Given the description of an element on the screen output the (x, y) to click on. 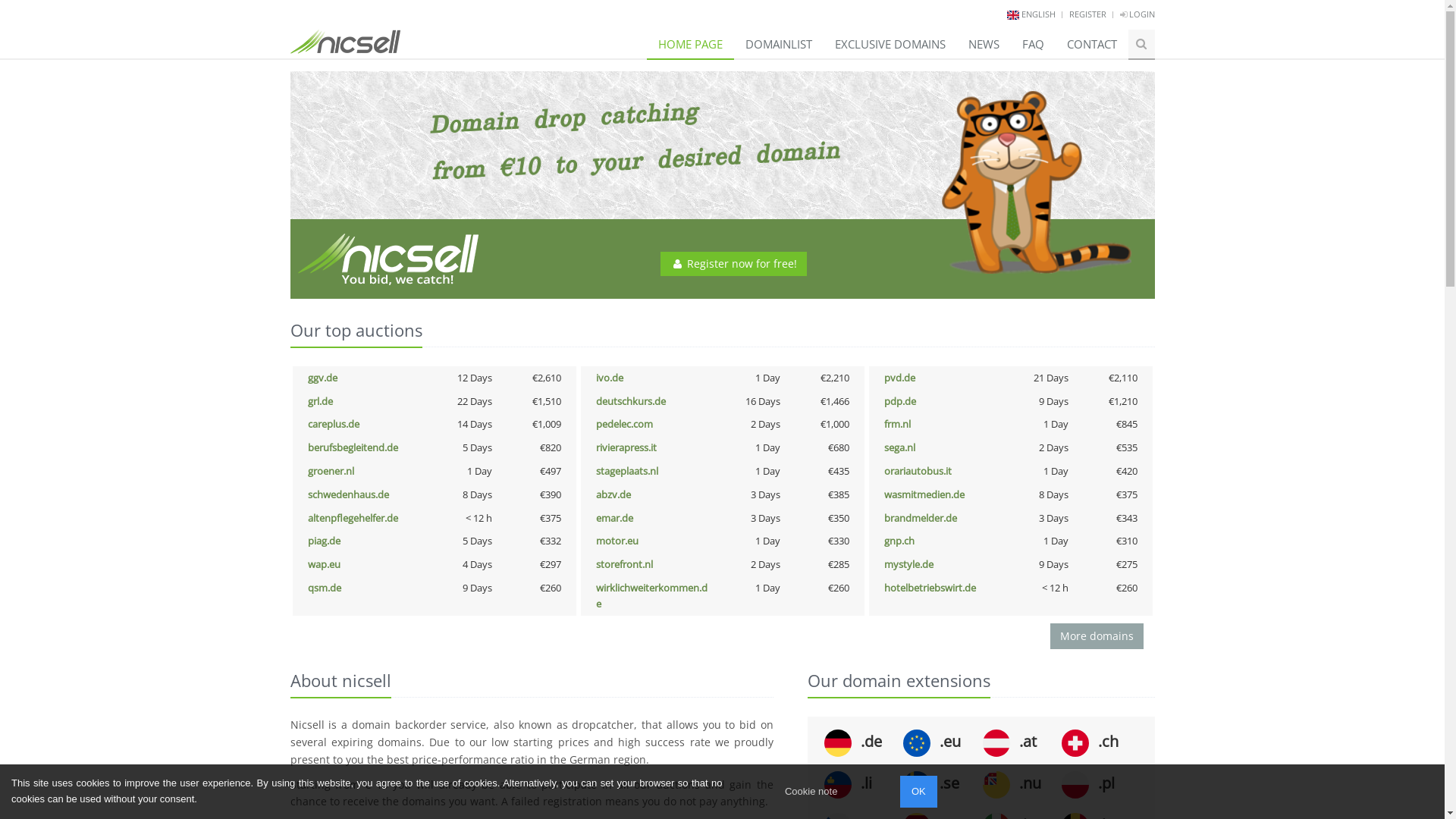
hotelbetriebswirt.de Element type: text (929, 587)
deutschkurs.de Element type: text (630, 400)
ivo.de Element type: text (609, 377)
grl.de Element type: text (319, 400)
gnp.ch Element type: text (899, 540)
motor.eu Element type: text (617, 540)
LOGIN Element type: text (1136, 13)
HOME PAGE Element type: text (689, 44)
More domains Element type: text (1095, 636)
ggv.de Element type: text (322, 377)
NEWS Element type: text (983, 44)
brandmelder.de Element type: text (920, 517)
FAQ Element type: text (1032, 44)
wap.eu Element type: text (323, 564)
pdp.de Element type: text (900, 400)
REGISTER Element type: text (1087, 13)
qsm.de Element type: text (324, 587)
altenpflegehelfer.de Element type: text (352, 517)
EXCLUSIVE DOMAINS Element type: text (890, 44)
orariautobus.it Element type: text (917, 470)
Cookie note Element type: text (810, 792)
CONTACT Element type: text (1091, 44)
rivierapress.it Element type: text (626, 447)
frm.nl Element type: text (897, 423)
wasmitmedien.de Element type: text (924, 494)
storefront.nl Element type: text (624, 564)
groener.nl Element type: text (330, 470)
schwedenhaus.de Element type: text (348, 494)
pvd.de Element type: text (899, 377)
wirklichweiterkommen.de Element type: text (651, 595)
Home Element type: hover (344, 36)
stageplaats.nl Element type: text (627, 470)
abzv.de Element type: text (613, 494)
berufsbegleitend.de Element type: text (352, 447)
nicsell Banner Element type: hover (721, 184)
emar.de Element type: text (614, 517)
careplus.de Element type: text (333, 423)
Register now for free! Element type: text (733, 263)
pedelec.com Element type: text (624, 423)
DOMAINLIST Element type: text (778, 44)
sega.nl Element type: text (899, 447)
mystyle.de Element type: text (908, 564)
ENGLISH Element type: text (1037, 13)
piag.de Element type: text (323, 540)
